Given the description of an element on the screen output the (x, y) to click on. 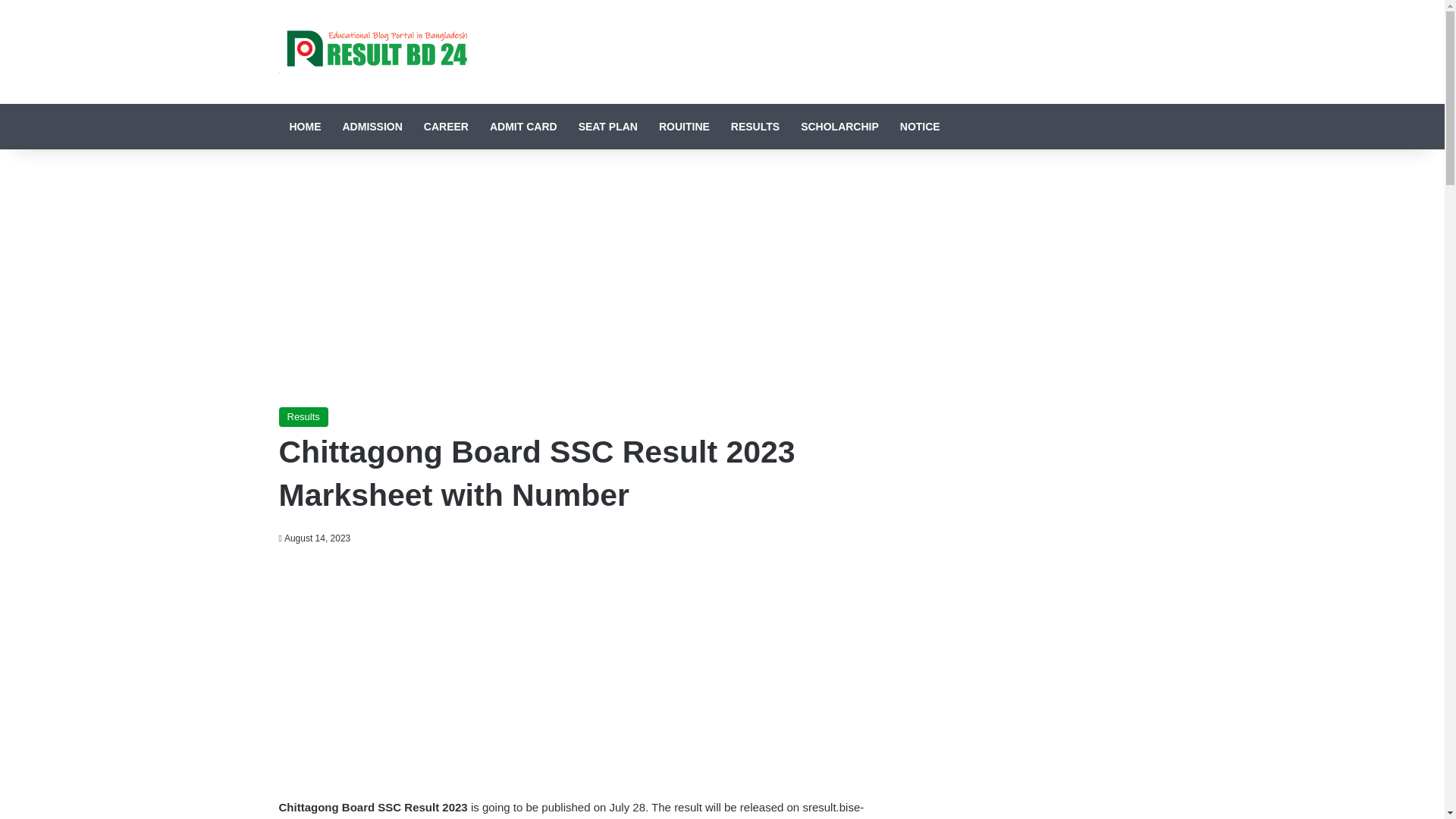
Advertisement (574, 668)
Results (304, 416)
Result BD 24 (373, 51)
NOTICE (919, 126)
RESULTS (755, 126)
SCHOLARCHIP (839, 126)
CAREER (446, 126)
HOME (305, 126)
SEAT PLAN (607, 126)
ADMIT CARD (523, 126)
